Given the description of an element on the screen output the (x, y) to click on. 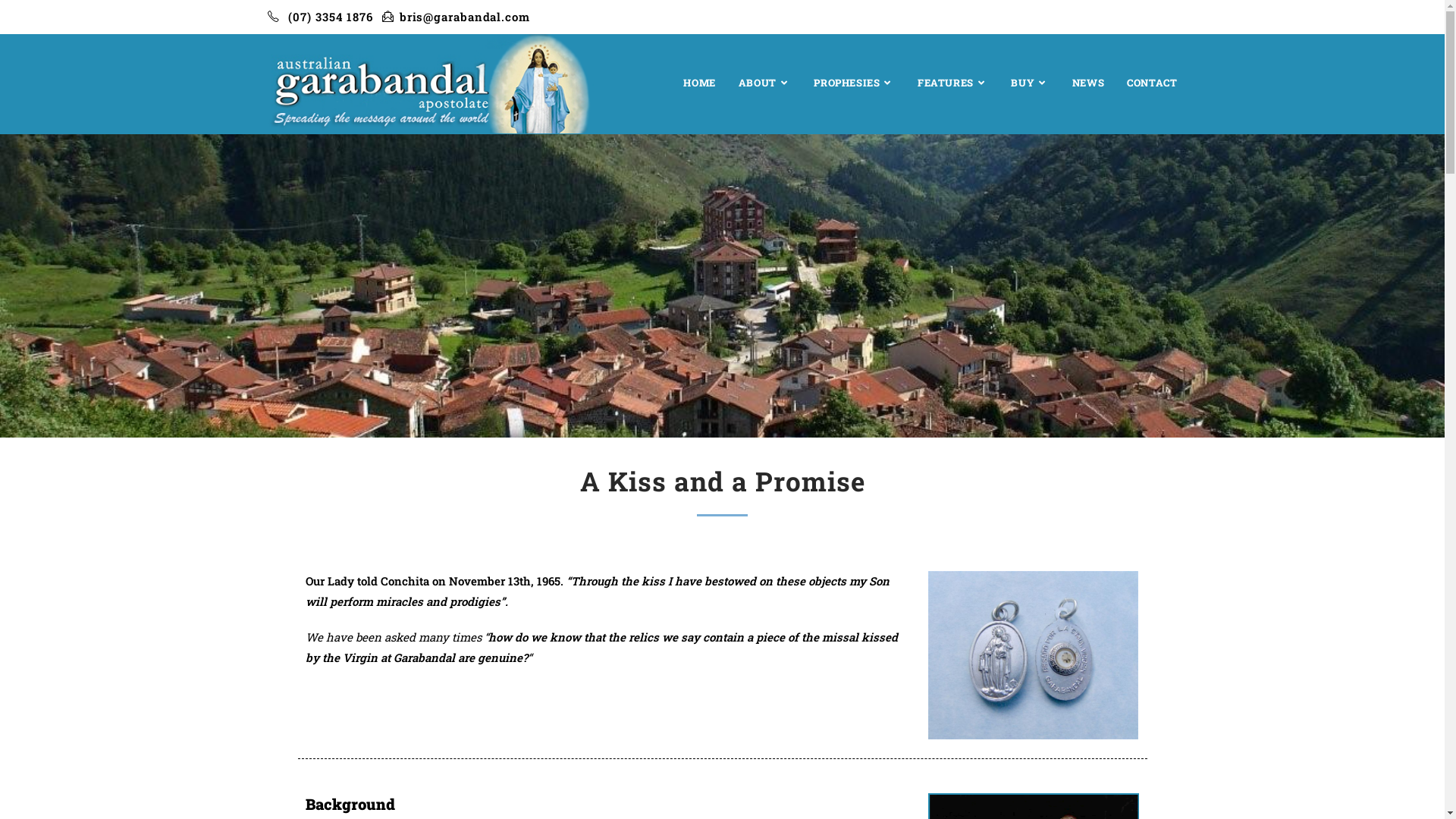
PROPHESIES Element type: text (854, 82)
HOME Element type: text (698, 82)
NEWS Element type: text (1087, 82)
FEATURES Element type: text (952, 82)
BUY Element type: text (1029, 82)
ABOUT Element type: text (765, 82)
CONTACT Element type: text (1151, 82)
